Given the description of an element on the screen output the (x, y) to click on. 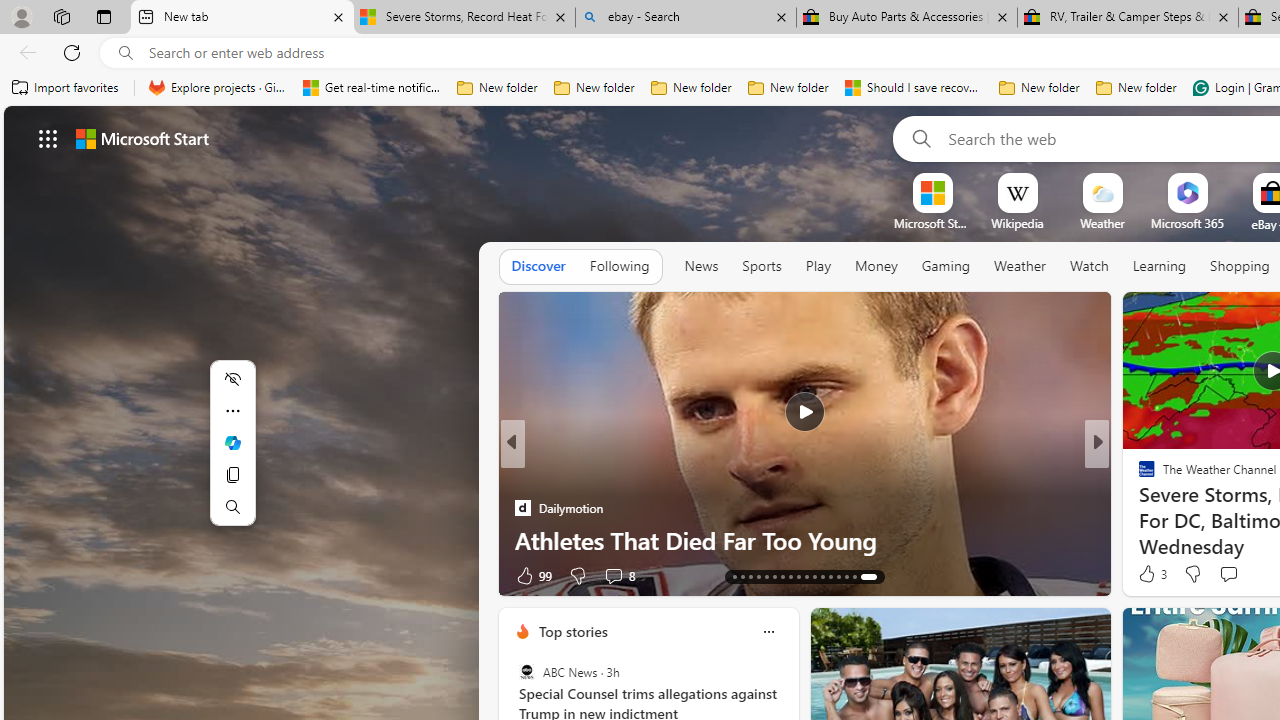
353 Like (1151, 574)
Buy Auto Parts & Accessories | eBay (907, 17)
AutomationID: tab-23 (825, 576)
The Independent (1138, 475)
AutomationID: tab-25 (842, 576)
View comments 167 Comment (1234, 575)
Eco Hugo (522, 475)
View comments 96 Comment (1234, 575)
Ask Copilot (232, 442)
32 Like (1149, 574)
